Given the description of an element on the screen output the (x, y) to click on. 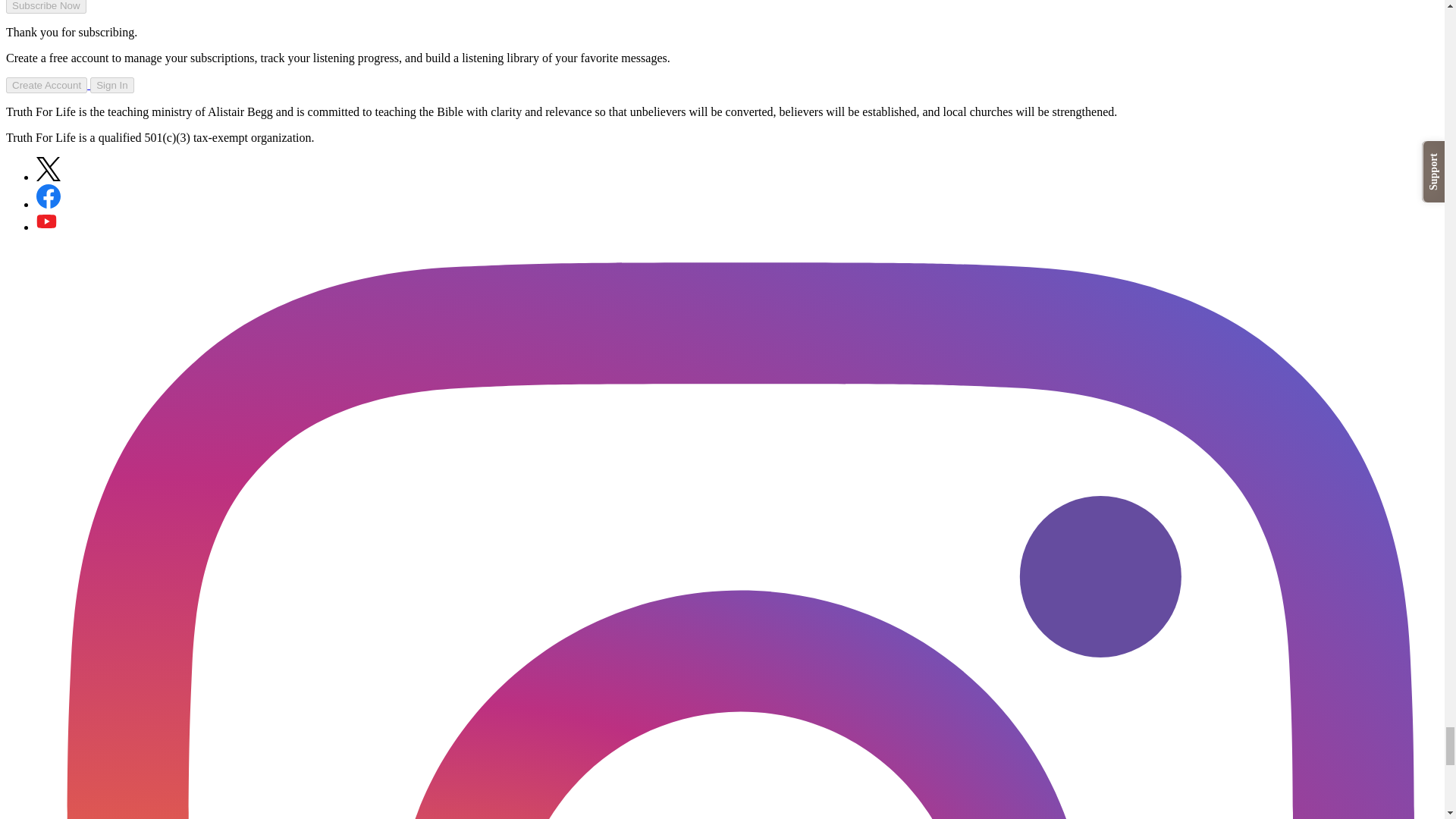
Subscribe Now (45, 6)
